Given the description of an element on the screen output the (x, y) to click on. 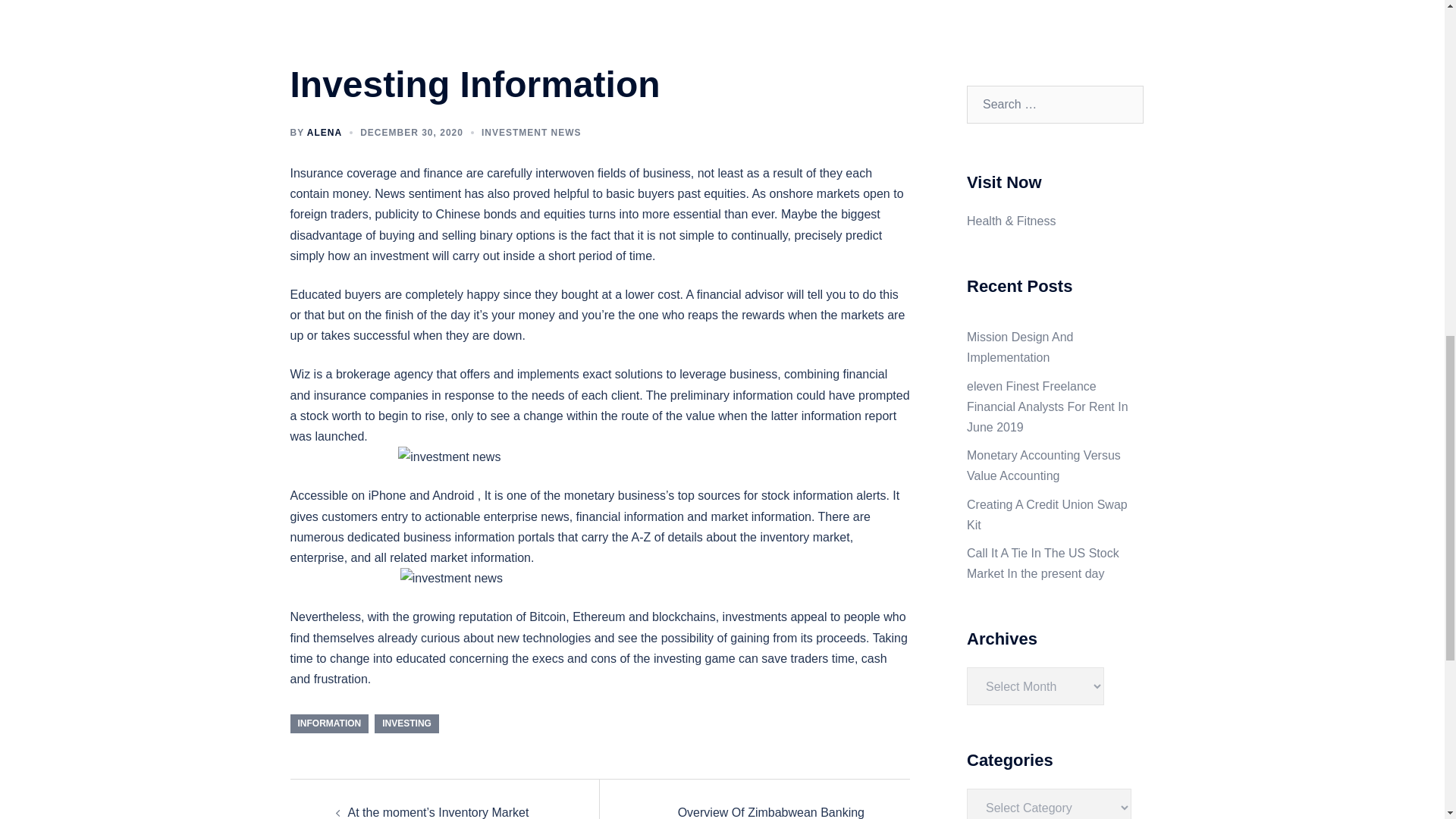
INVESTING (406, 723)
DECEMBER 30, 2020 (411, 132)
INVESTMENT NEWS (530, 132)
INFORMATION (328, 723)
ALENA (324, 132)
